Given the description of an element on the screen output the (x, y) to click on. 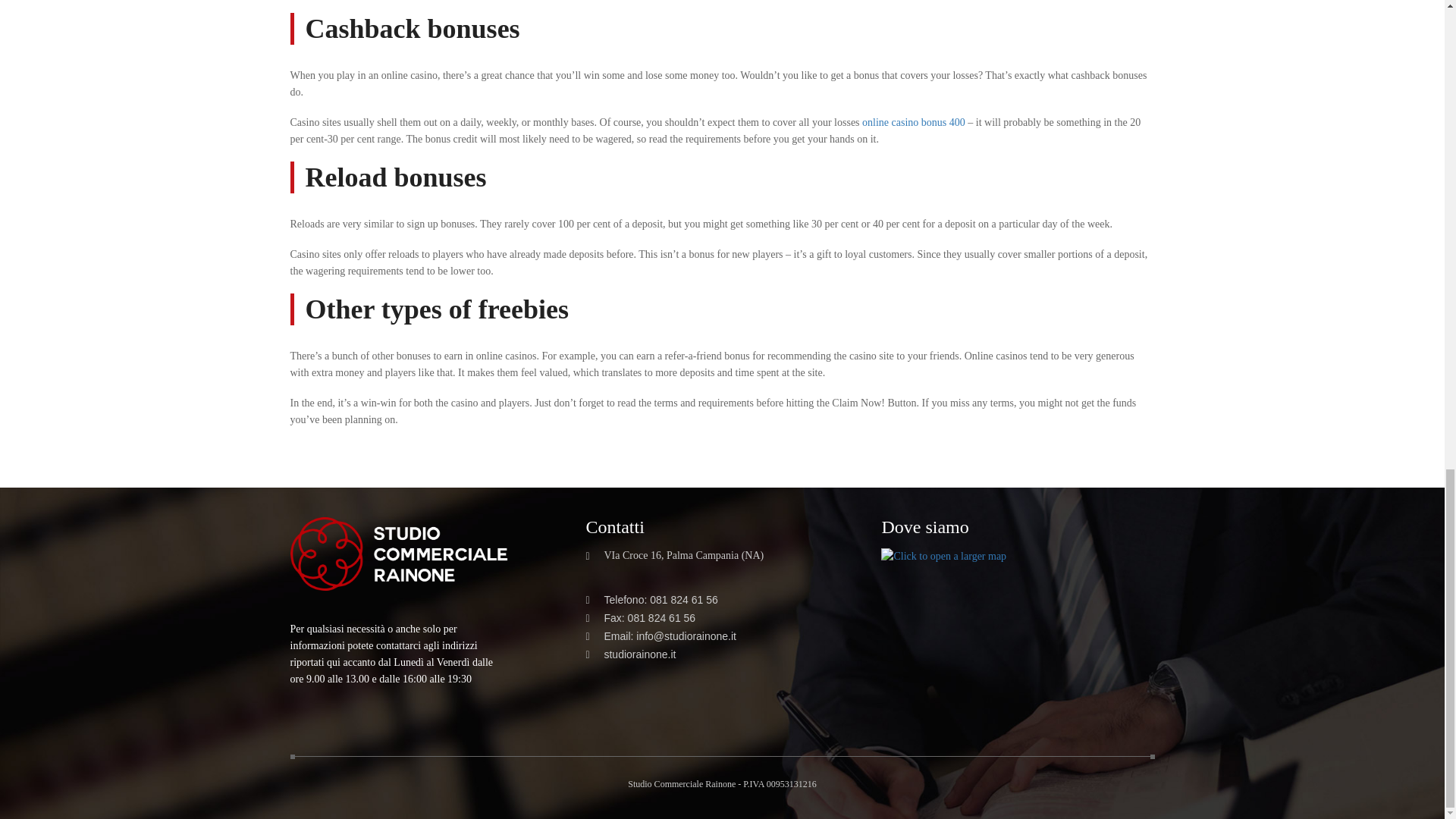
Click to open a larger map (943, 556)
Click to open a larger map (943, 555)
online casino bonus 400 (913, 122)
